Given the description of an element on the screen output the (x, y) to click on. 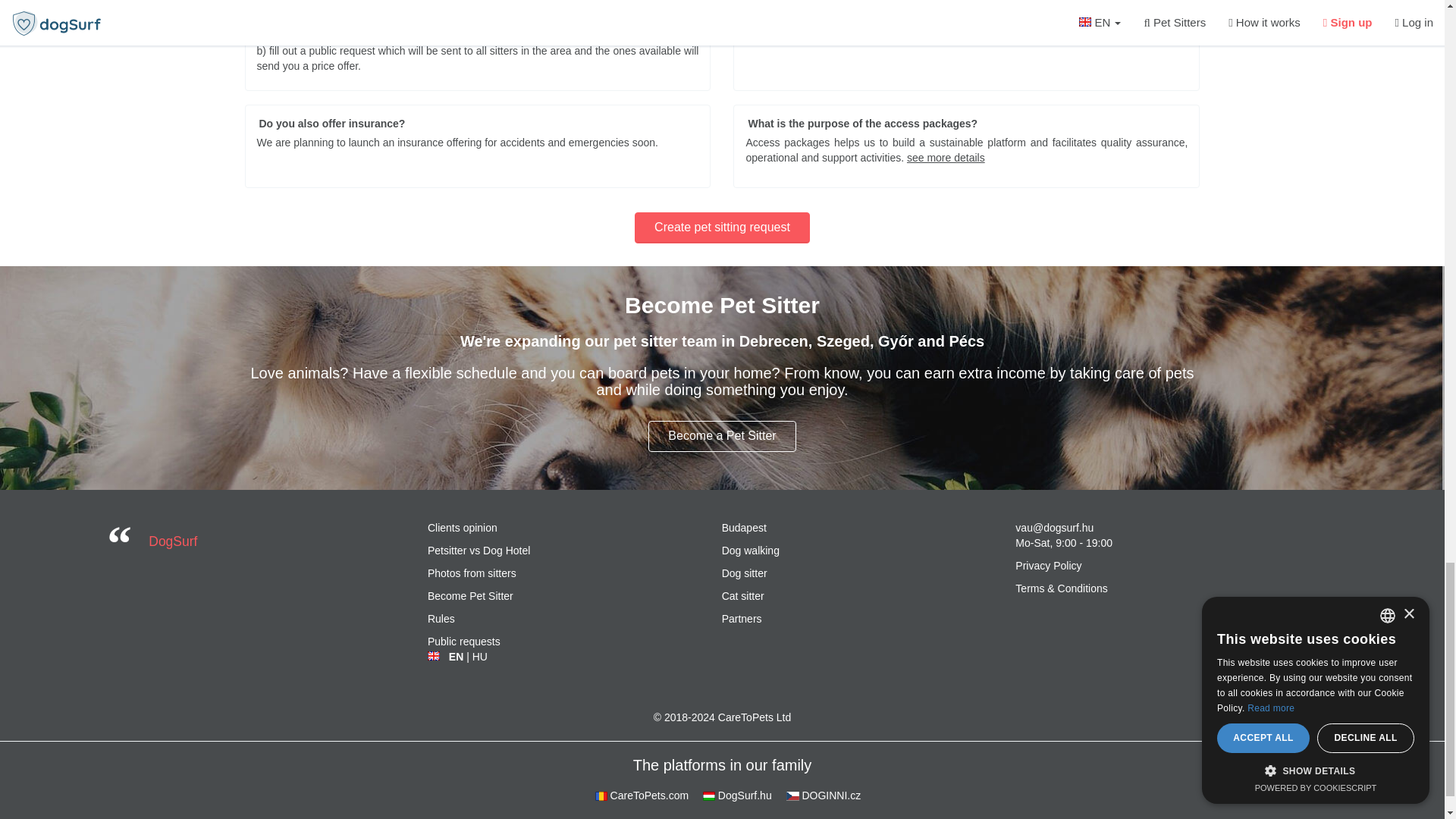
see more details (946, 157)
Clients opinion (462, 528)
Petsitter vs Dog Hotel (478, 550)
Become Pet Sitter (470, 596)
DogSurf (172, 540)
Create pet sitting request (721, 227)
Photos from sitters (472, 573)
Become a Pet Sitter (720, 436)
